Given the description of an element on the screen output the (x, y) to click on. 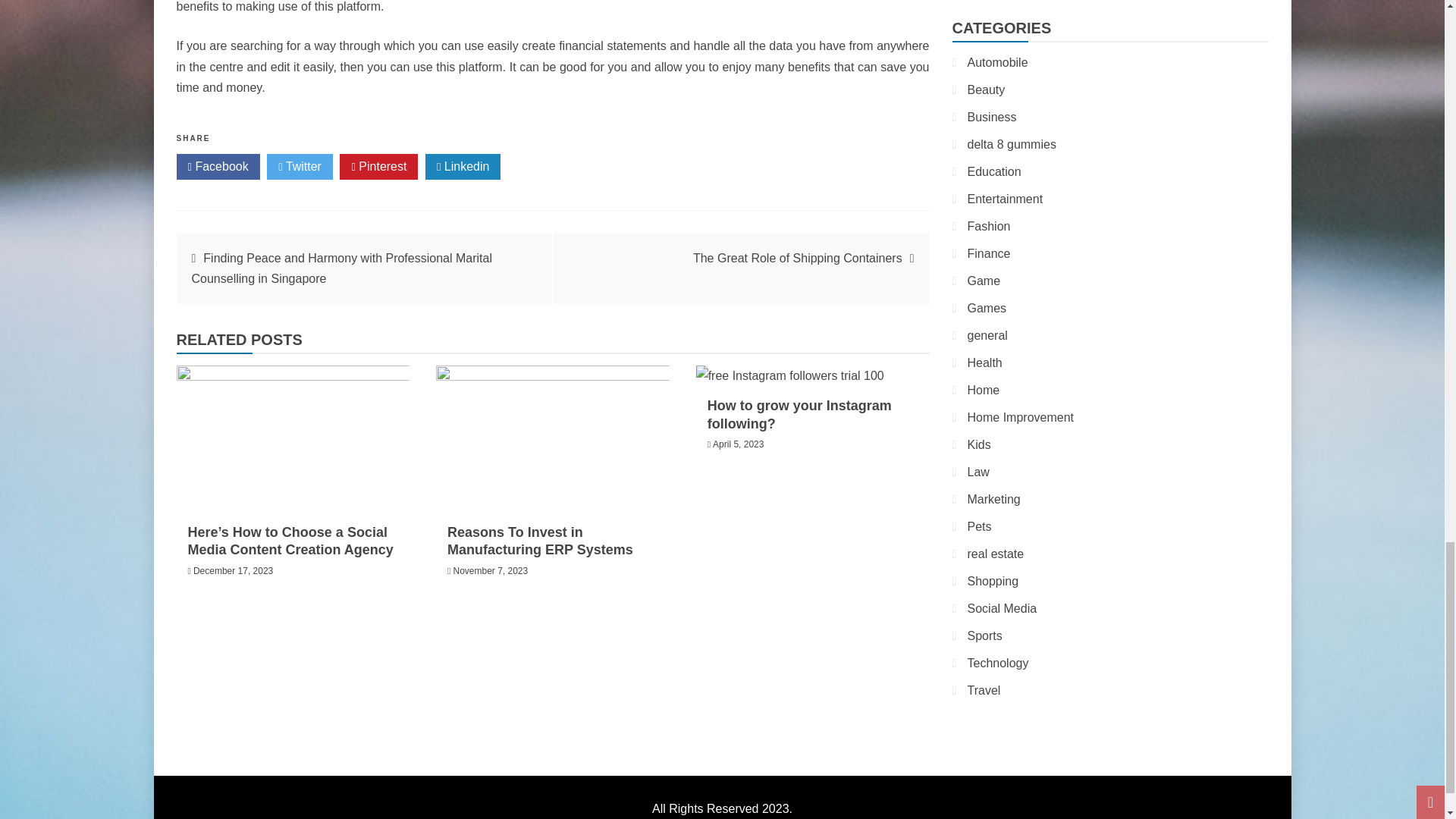
How to grow your Instagram following? (799, 414)
Linkedin (462, 166)
Twitter (299, 166)
Pinterest (378, 166)
November 7, 2023 (489, 570)
Reasons To Invest in Manufacturing ERP Systems (539, 540)
The Great Role of Shipping Containers (797, 257)
Facebook (217, 166)
April 5, 2023 (737, 443)
December 17, 2023 (233, 570)
